Given the description of an element on the screen output the (x, y) to click on. 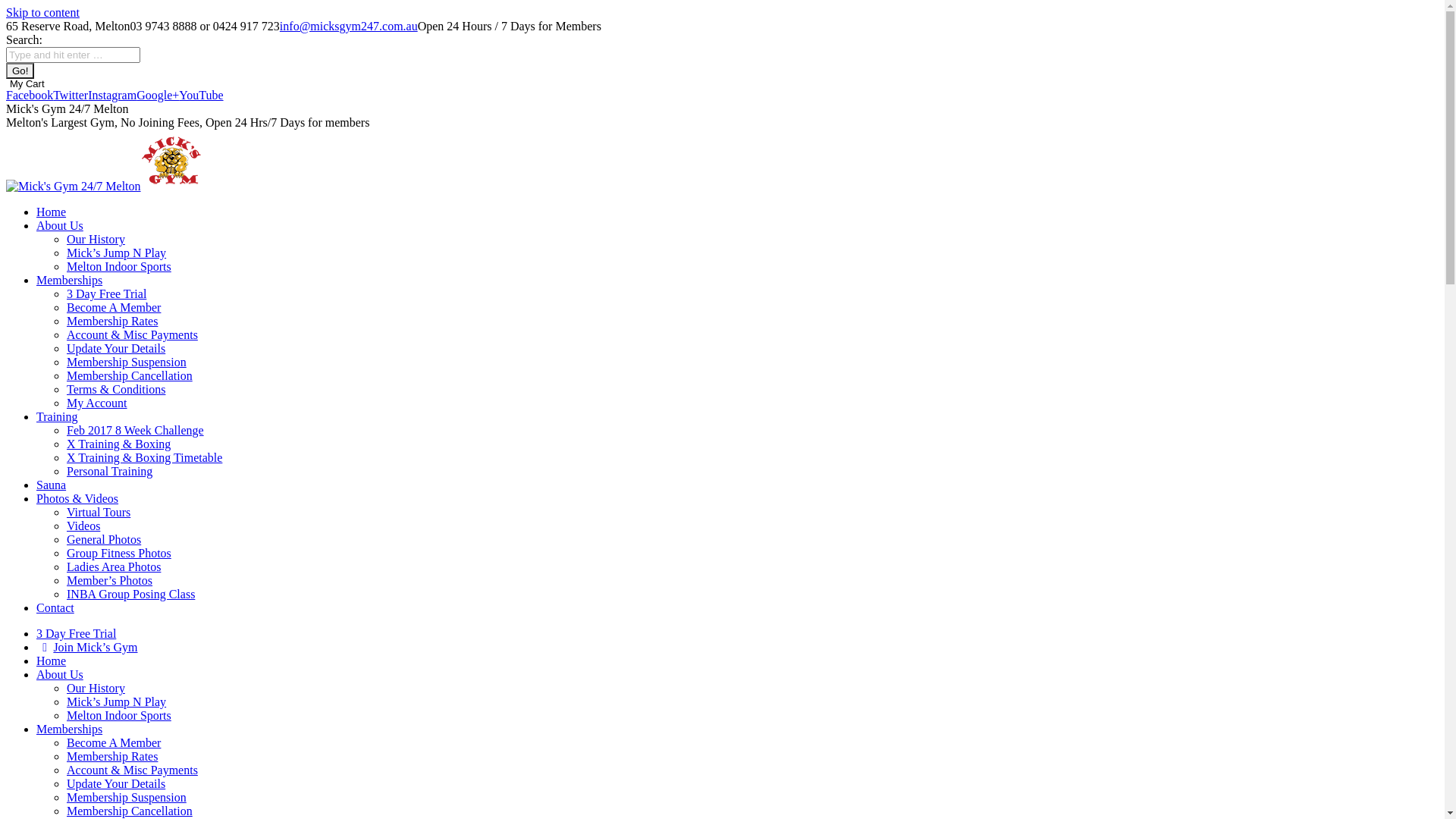
Become A Member Element type: text (113, 307)
Membership Cancellation Element type: text (129, 375)
Group Fitness Photos Element type: text (118, 552)
Videos Element type: text (83, 525)
Contact Element type: text (55, 607)
Home Element type: text (50, 660)
Training Element type: text (57, 416)
Go! Element type: text (20, 70)
Sauna Element type: text (50, 484)
X Training & Boxing Timetable Element type: text (144, 457)
Google+ Element type: text (157, 94)
Instagram Element type: text (111, 94)
Account & Misc Payments Element type: text (131, 769)
Account & Misc Payments Element type: text (131, 334)
Facebook Element type: text (29, 94)
About Us Element type: text (59, 225)
Membership Cancellation Element type: text (129, 810)
Twitter Element type: text (70, 94)
Membership Suspension Element type: text (126, 361)
Home Element type: text (50, 211)
Membership Rates Element type: text (111, 320)
Personal Training Element type: text (109, 470)
About Us Element type: text (59, 674)
Our History Element type: text (95, 687)
General Photos Element type: text (103, 539)
Virtual Tours Element type: text (98, 511)
X Training & Boxing Element type: text (118, 443)
INBA Group Posing Class Element type: text (130, 593)
Memberships Element type: text (69, 279)
3 Day Free Trial Element type: text (106, 293)
Feb 2017 8 Week Challenge Element type: text (134, 429)
YouTube Element type: text (200, 94)
Update Your Details Element type: text (115, 783)
My Cart Element type: text (722, 83)
info@micksgym247.com.au Element type: text (348, 25)
Membership Suspension Element type: text (126, 796)
Melton Indoor Sports Element type: text (118, 266)
Terms & Conditions Element type: text (115, 388)
Photos & Videos Element type: text (77, 498)
Update Your Details Element type: text (115, 348)
Become A Member Element type: text (113, 742)
Skip to content Element type: text (42, 12)
Memberships Element type: text (69, 728)
Our History Element type: text (95, 238)
Membership Rates Element type: text (111, 755)
3 Day Free Trial Element type: text (76, 633)
Ladies Area Photos Element type: text (113, 566)
Melton Indoor Sports Element type: text (118, 715)
My Account Element type: text (96, 402)
